Given the description of an element on the screen output the (x, y) to click on. 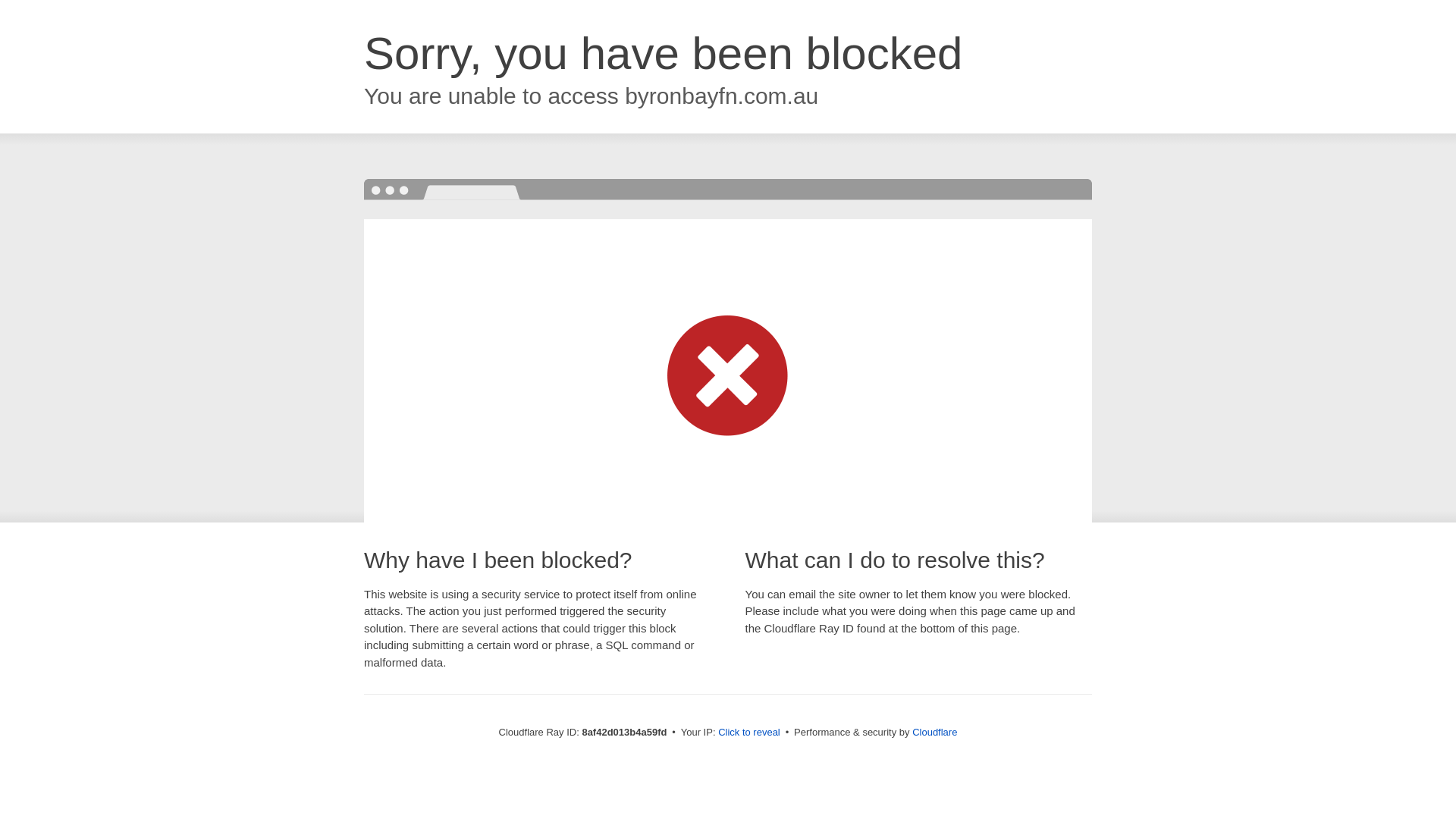
Cloudflare (934, 731)
Click to reveal (748, 732)
